Given the description of an element on the screen output the (x, y) to click on. 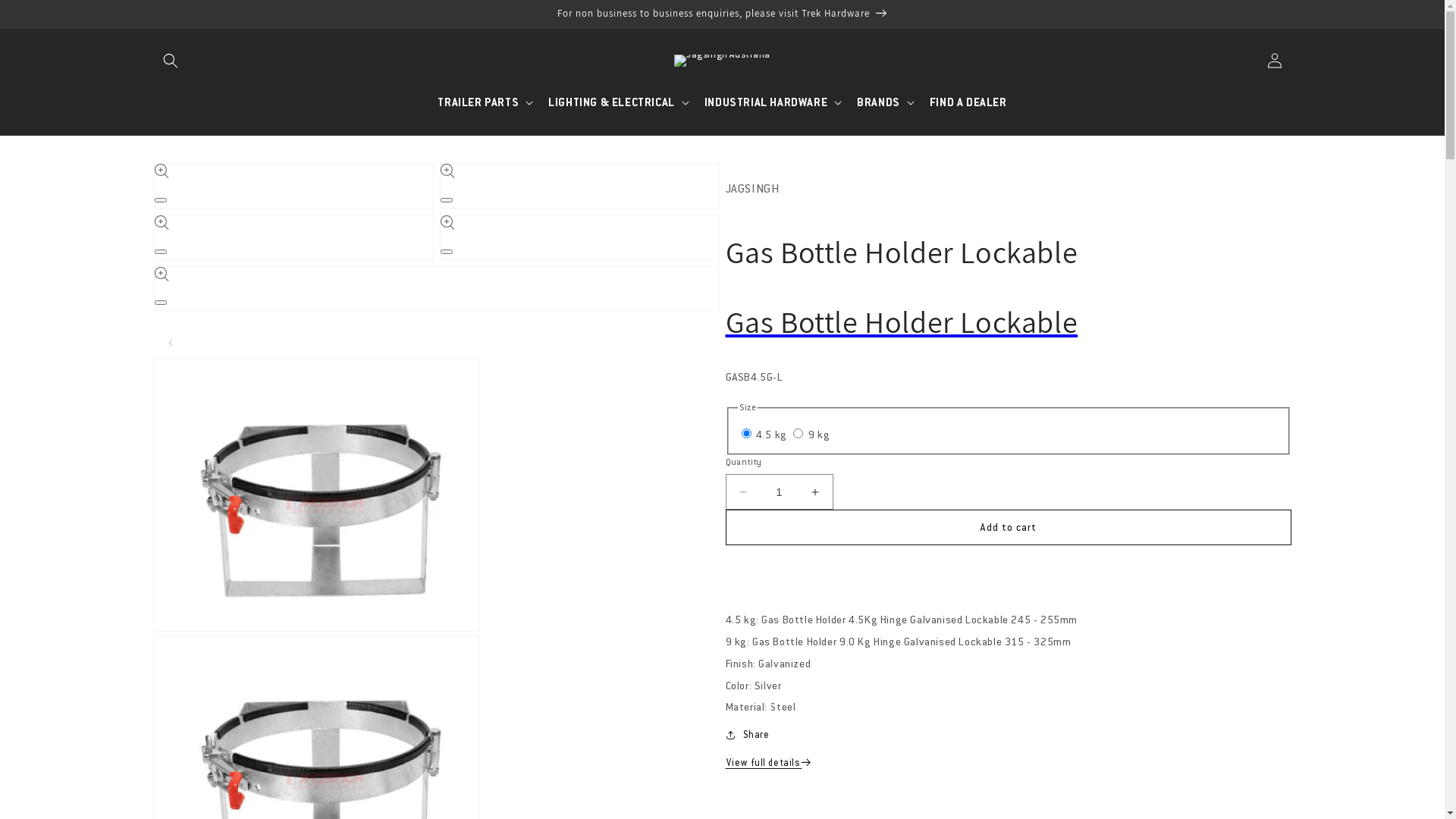
Increase quantity for Gas Bottle Holder Lockable Element type: text (814, 491)
View full details Element type: text (768, 762)
Add to cart Element type: text (1007, 527)
Open media 5 in modal Element type: text (160, 302)
Open media 4 in modal Element type: text (445, 251)
Decrease quantity for Gas Bottle Holder Lockable Element type: text (743, 491)
Log in Element type: text (1273, 60)
Gas Bottle Holder Lockable Element type: text (1007, 321)
Open media 1 in modal Element type: text (160, 199)
Skip to product information Element type: text (199, 179)
Open media 3 in modal Element type: text (160, 251)
FIND A DEALER Element type: text (968, 101)
Open media 2 in modal Element type: text (445, 199)
